Given the description of an element on the screen output the (x, y) to click on. 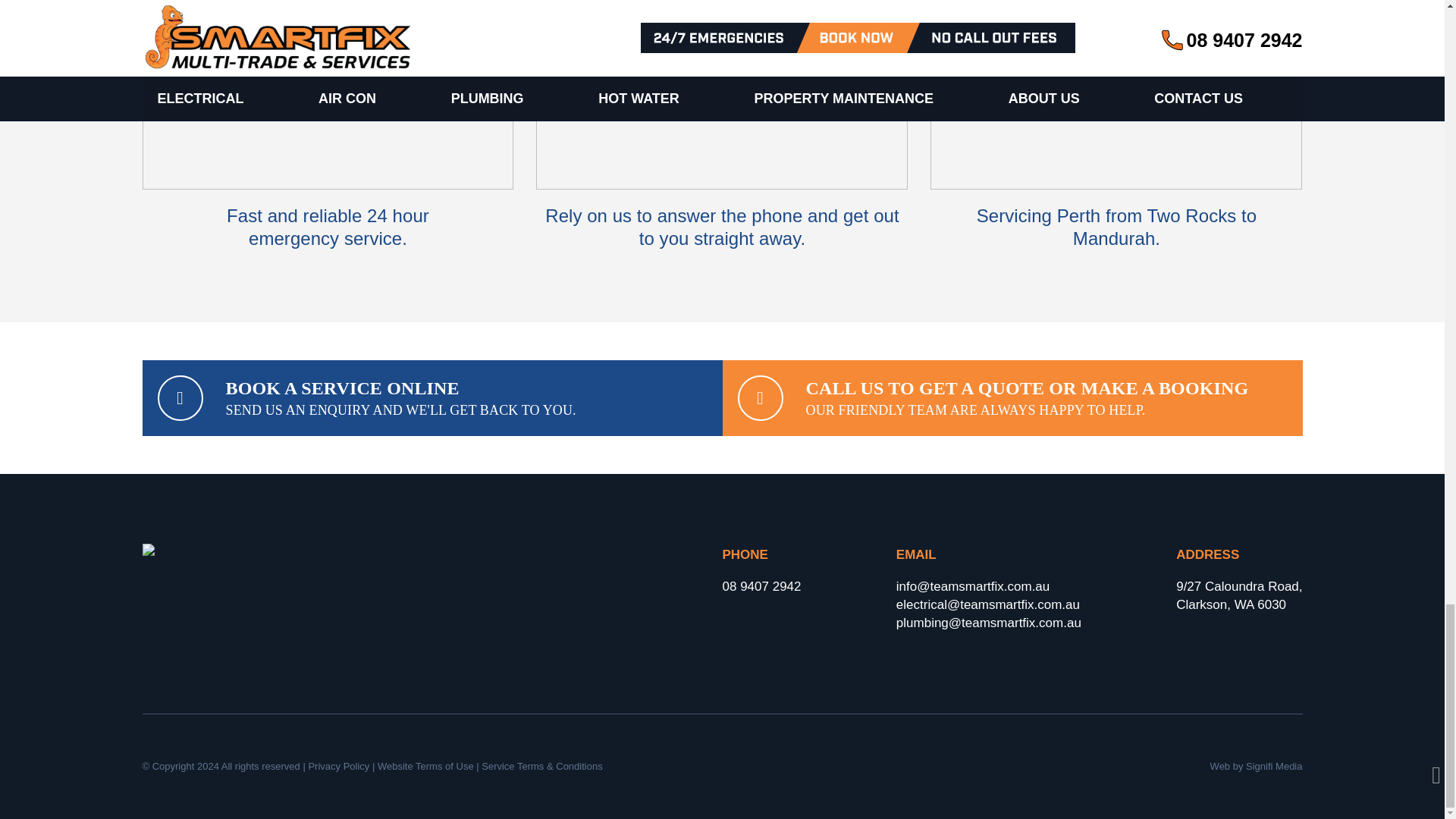
Mail us (988, 605)
call us (761, 587)
Mail us (972, 587)
